Given the description of an element on the screen output the (x, y) to click on. 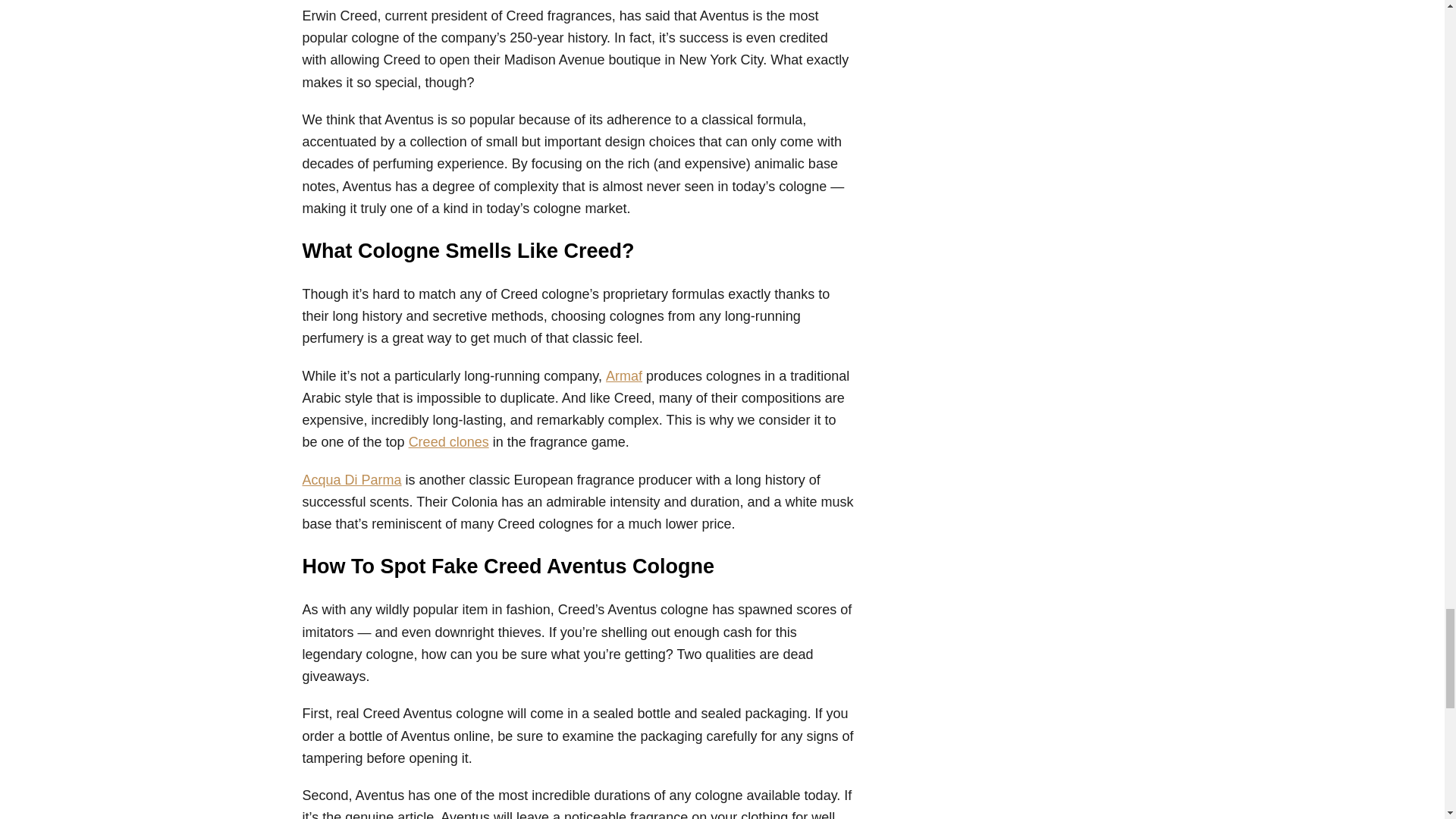
Creed clones (449, 441)
Acqua Di Parma (351, 479)
Armaf (623, 376)
